Given the description of an element on the screen output the (x, y) to click on. 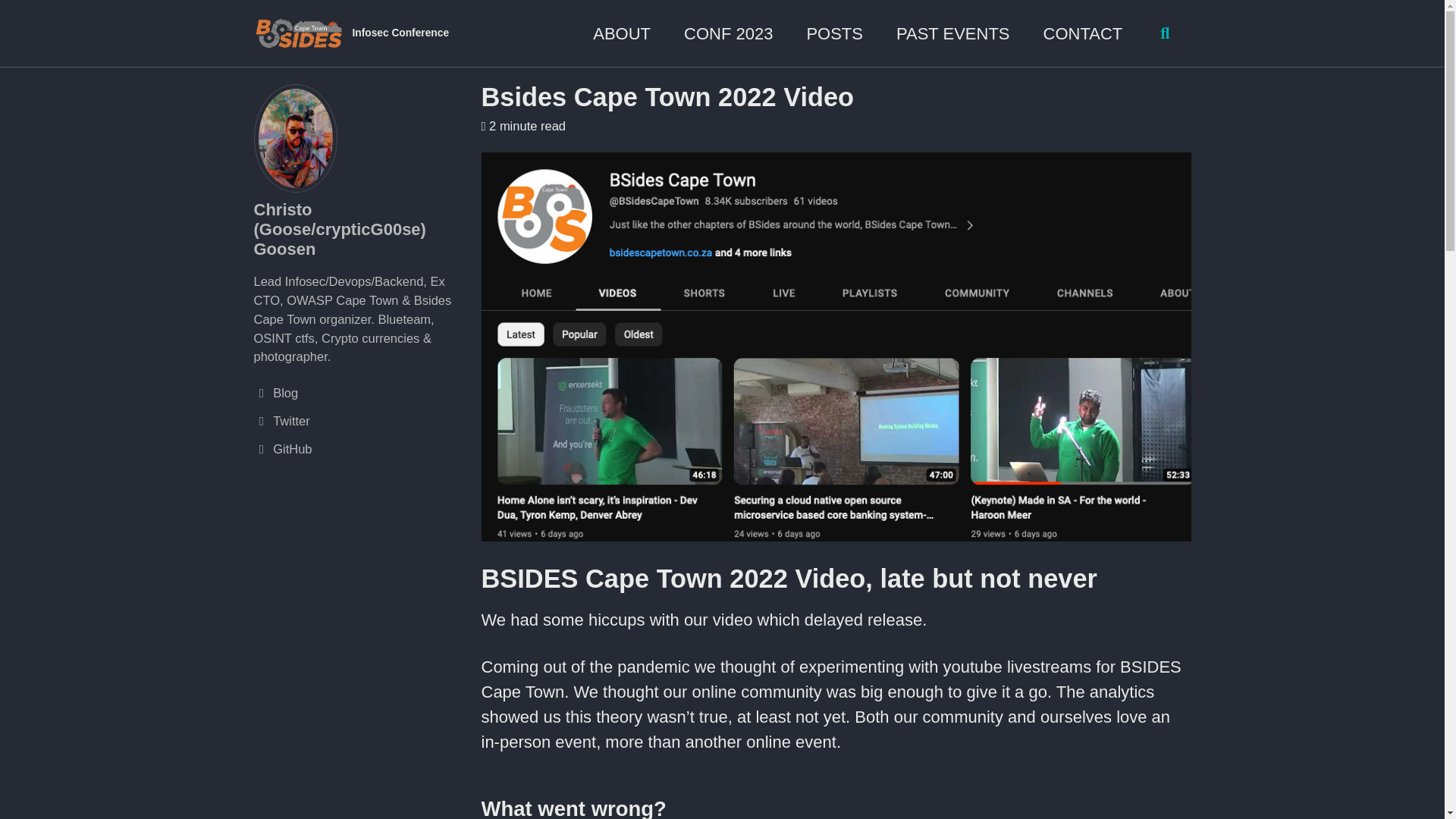
Twitter (358, 421)
GitHub (358, 449)
ABOUT (621, 33)
Bsides Cape Town 2022 Video (666, 96)
Blog (358, 393)
CONTACT (1082, 33)
CONF 2023 (728, 33)
PAST EVENTS (953, 33)
POSTS (834, 33)
